Given the description of an element on the screen output the (x, y) to click on. 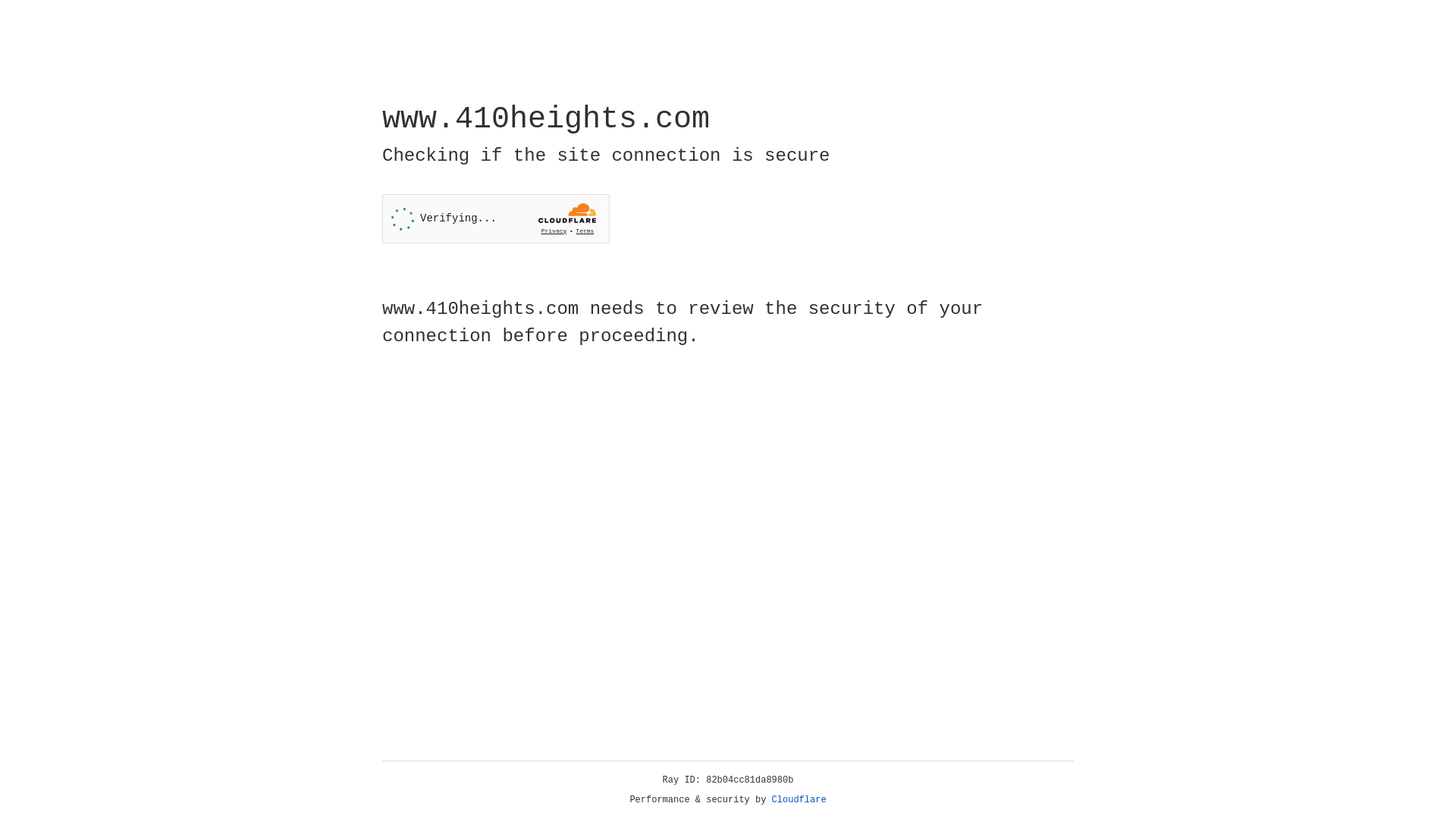
Cloudflare Element type: text (798, 799)
Widget containing a Cloudflare security challenge Element type: hover (495, 218)
